Given the description of an element on the screen output the (x, y) to click on. 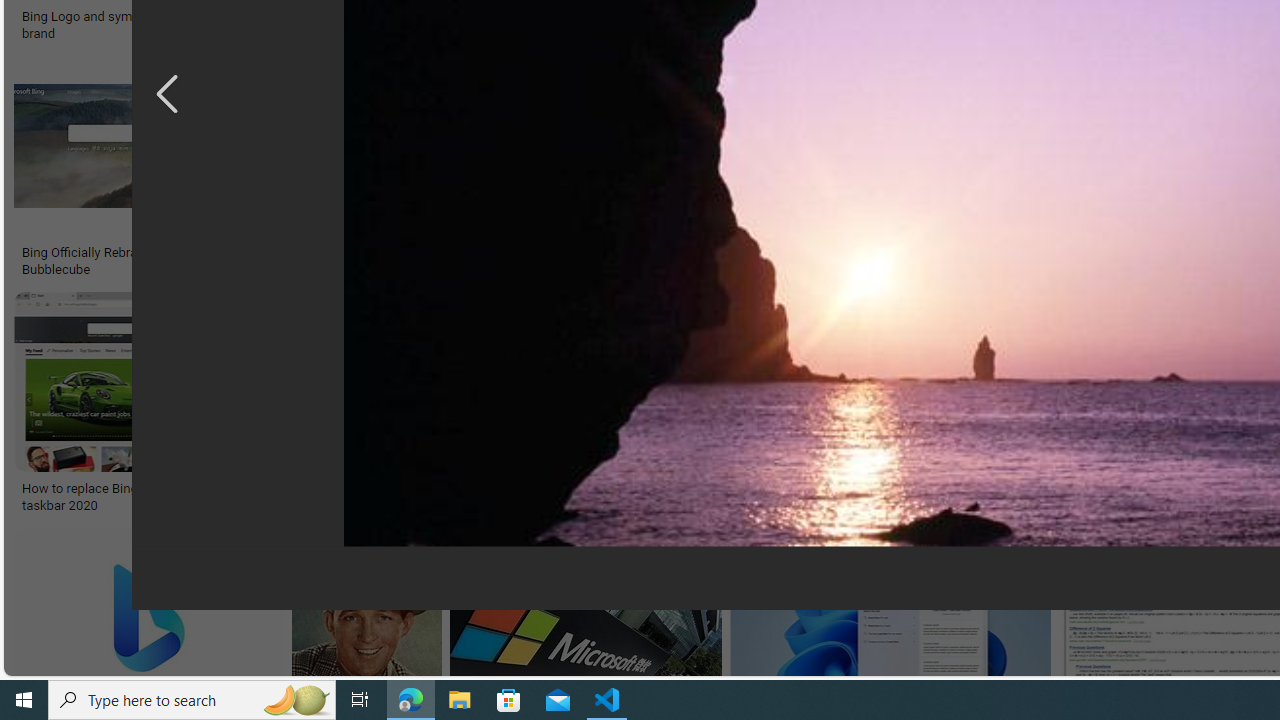
How to replace Bing in Windows 10 search on the taskbar 2020 (164, 497)
How to replace Bing in Windows 10 search on the taskbar 2020 (164, 497)
Bing - SEOLend (489, 253)
Bing Logo and symbol, meaning, history, PNG, brand (170, 24)
